Given the description of an element on the screen output the (x, y) to click on. 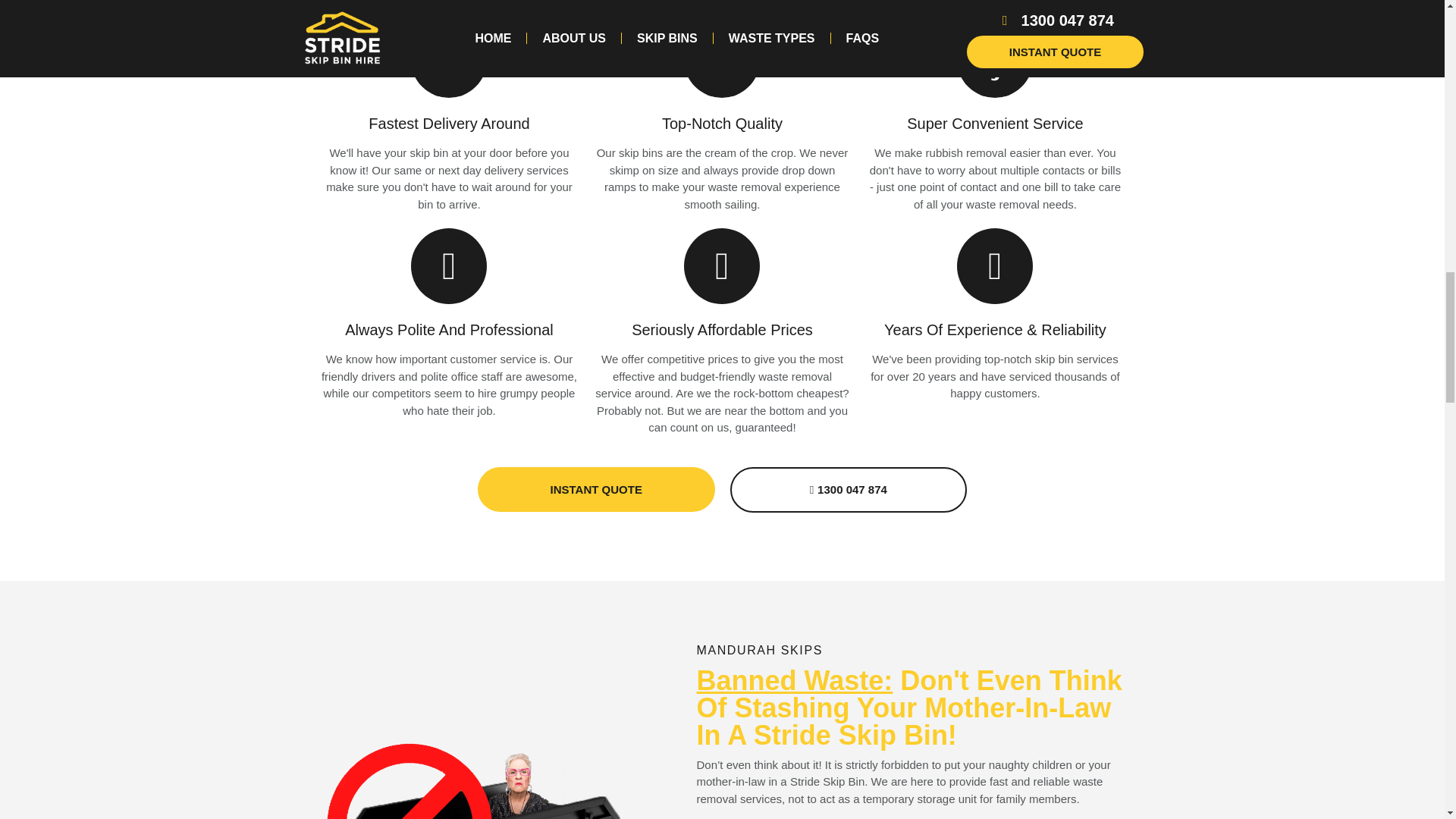
INSTANT QUOTE (595, 488)
1300 047 874 (847, 489)
